Given the description of an element on the screen output the (x, y) to click on. 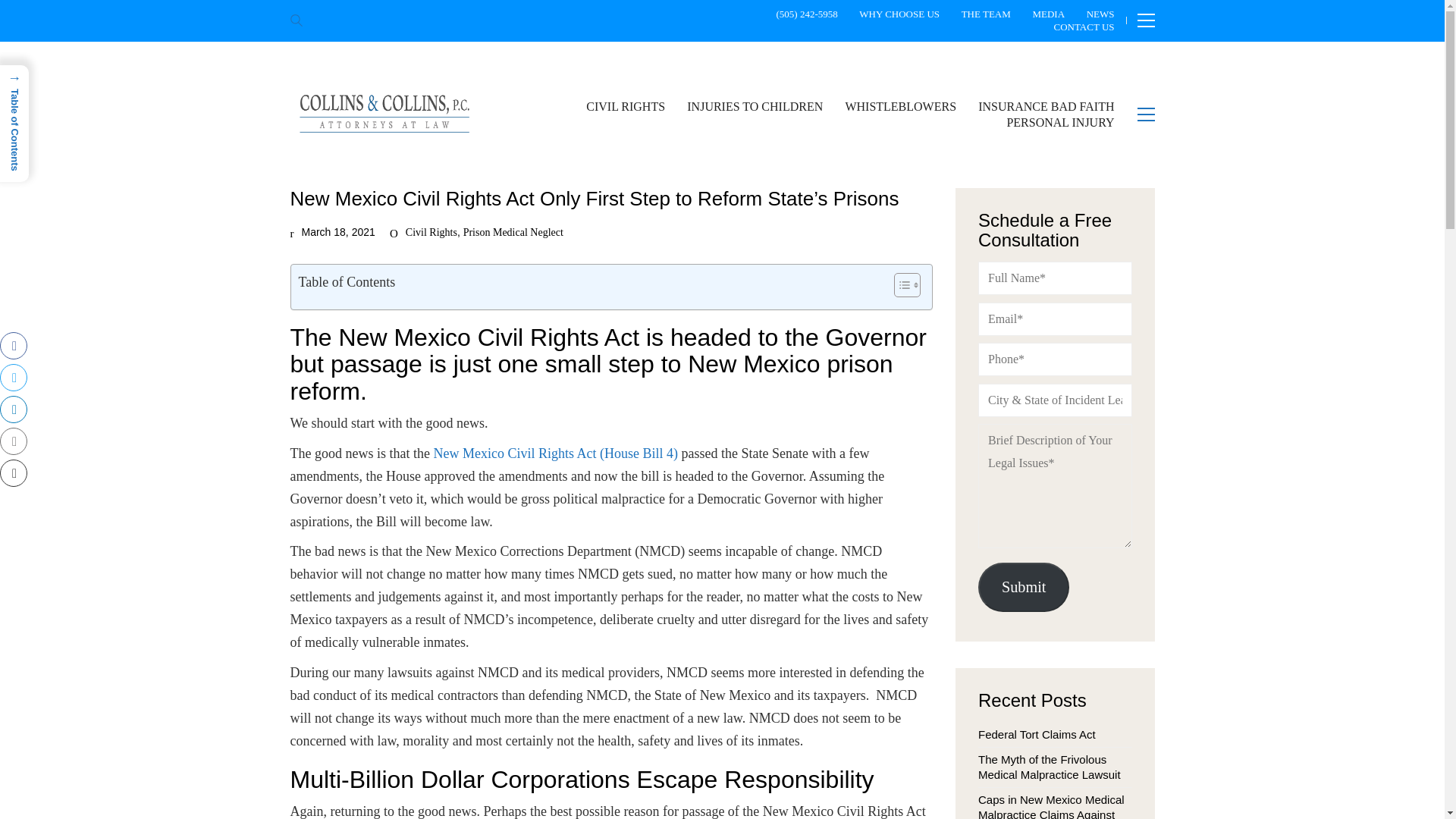
PERSONAL INJURY (1059, 122)
THE TEAM (985, 13)
CONTACT US (1084, 26)
NEWS (1100, 13)
INSURANCE BAD FAITH (1045, 106)
WHISTLEBLOWERS (900, 106)
INJURIES TO CHILDREN (754, 106)
Submit (1023, 586)
Personal injuries to children (754, 106)
MEDIA (1048, 13)
